Given the description of an element on the screen output the (x, y) to click on. 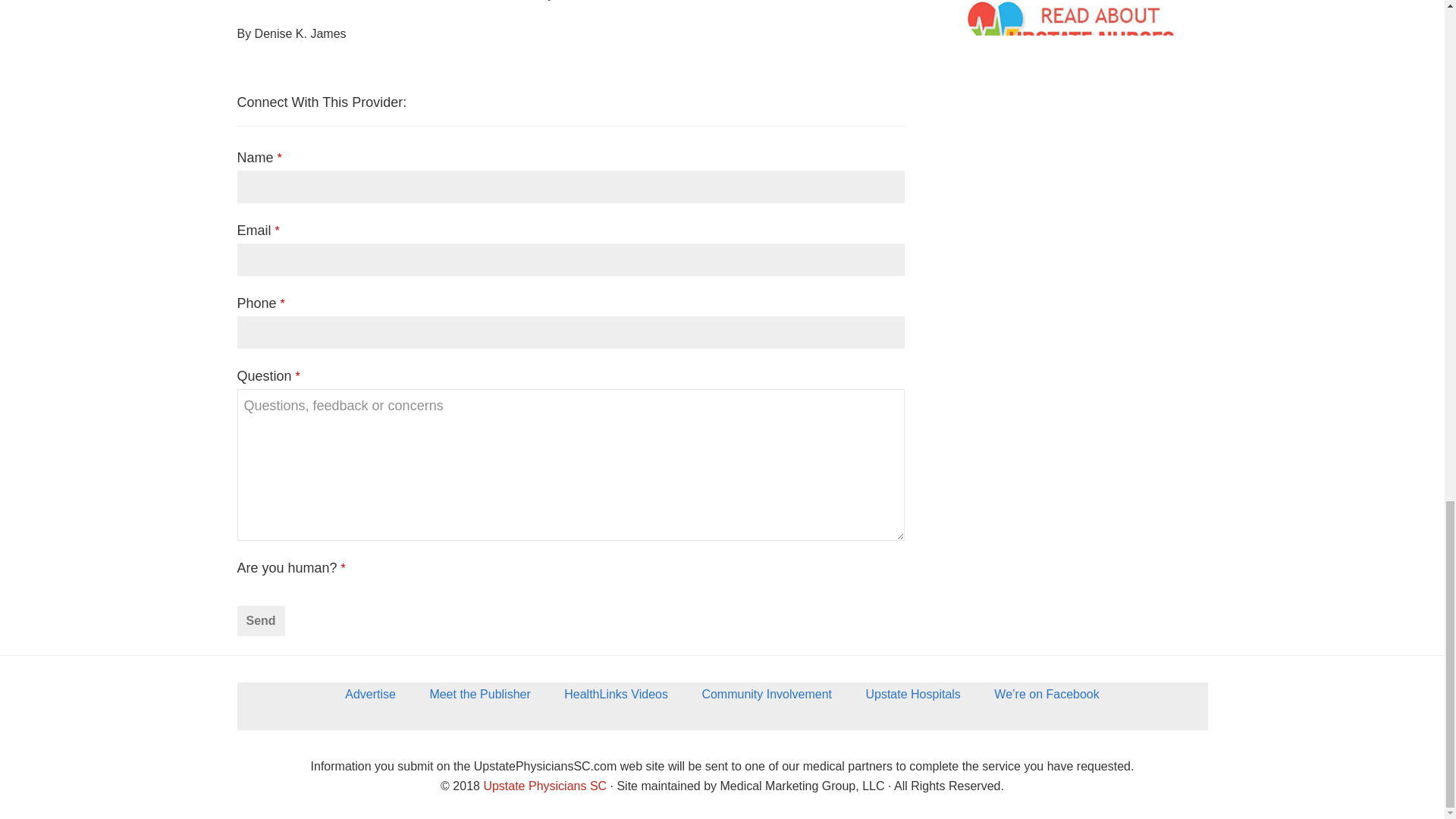
Meet the Publisher (478, 698)
Upstate Hospitals (912, 698)
Upstate Physicians SC (545, 785)
Send (259, 621)
Community Involvement (766, 698)
HealthLinks Videos (615, 698)
Advertise (370, 698)
